Given the description of an element on the screen output the (x, y) to click on. 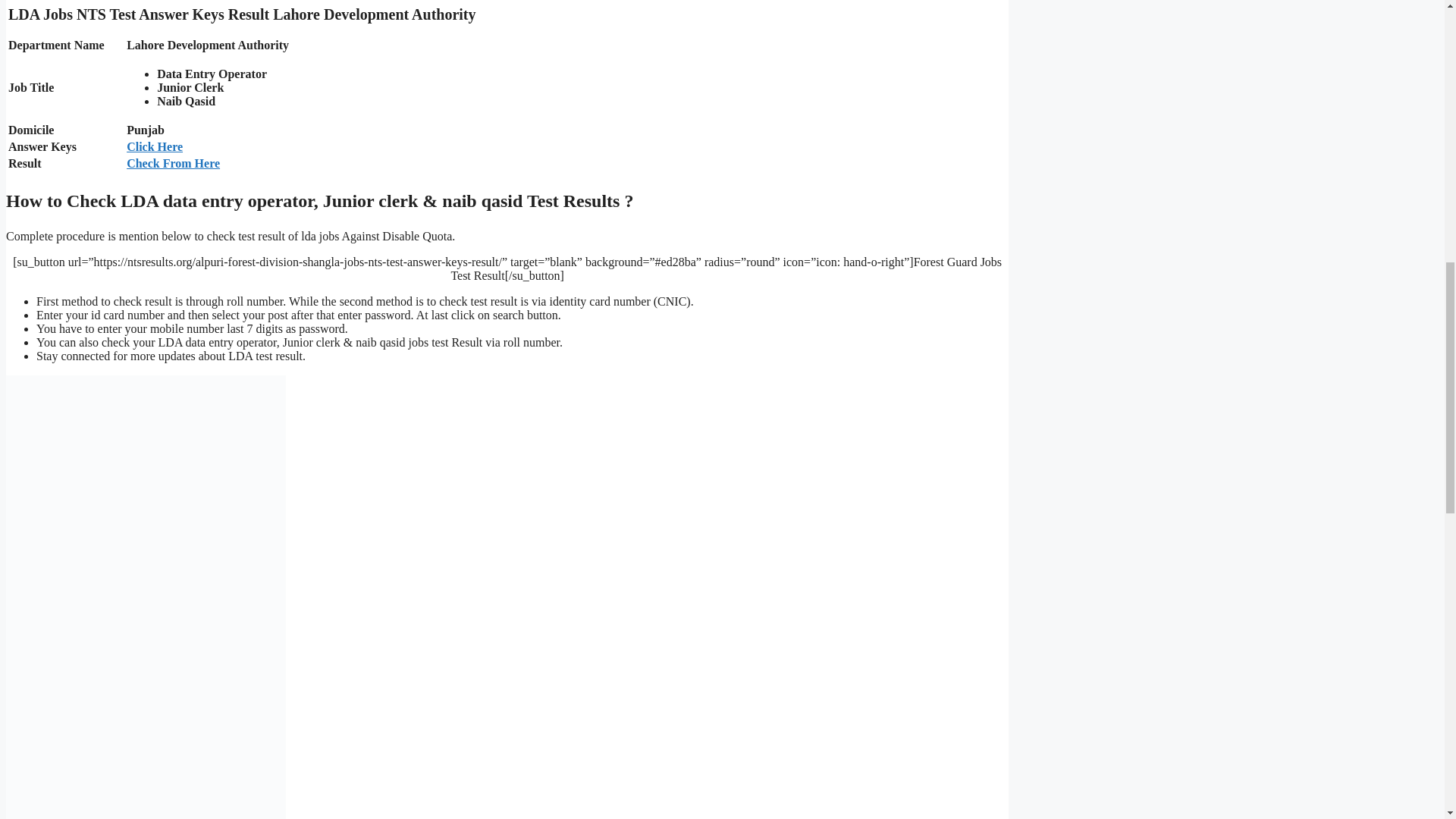
Check From Here (172, 163)
Click Here (154, 146)
